Given the description of an element on the screen output the (x, y) to click on. 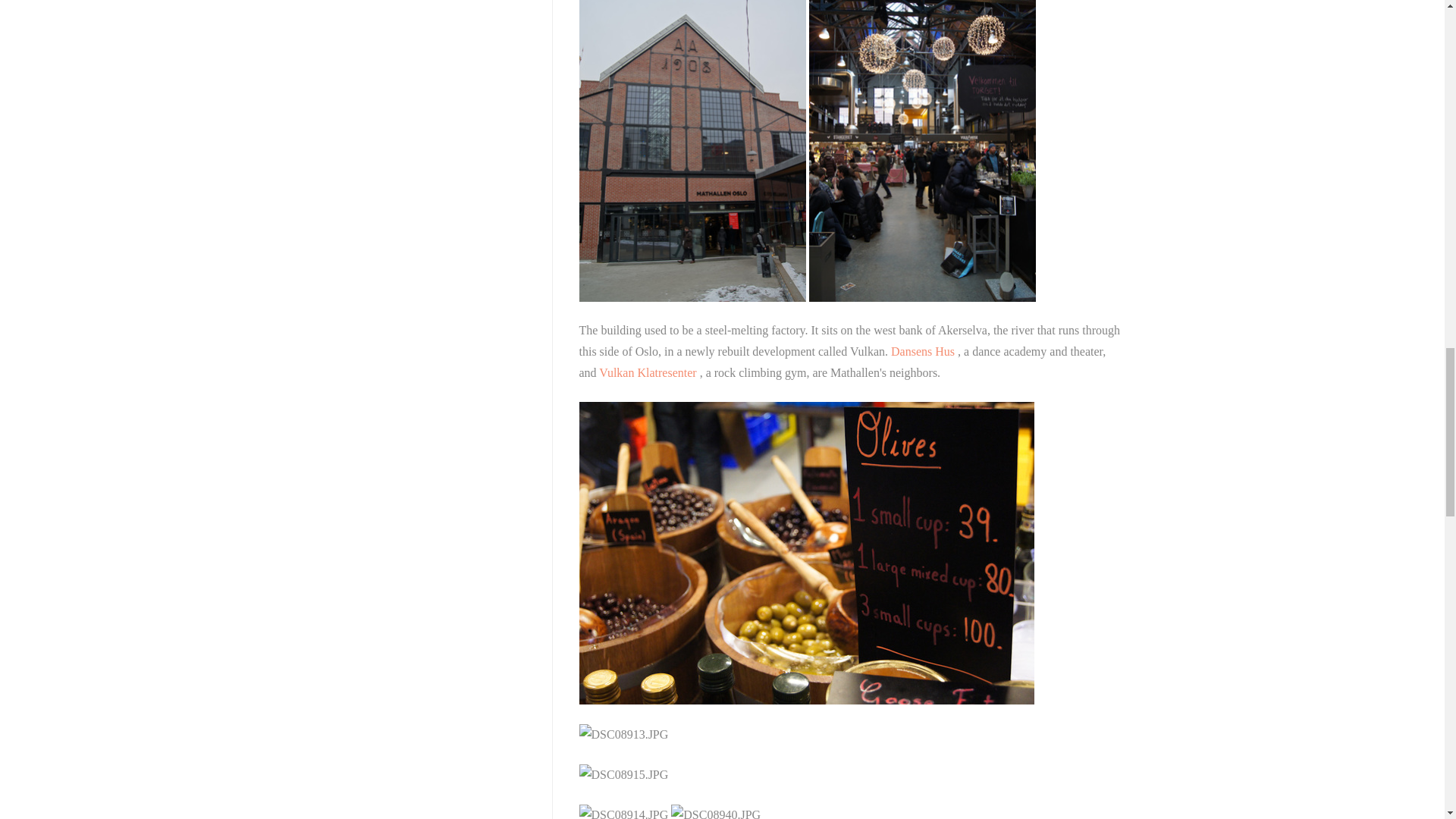
Vulkan Klatresenter (648, 372)
Dansens Hus (924, 350)
